Given the description of an element on the screen output the (x, y) to click on. 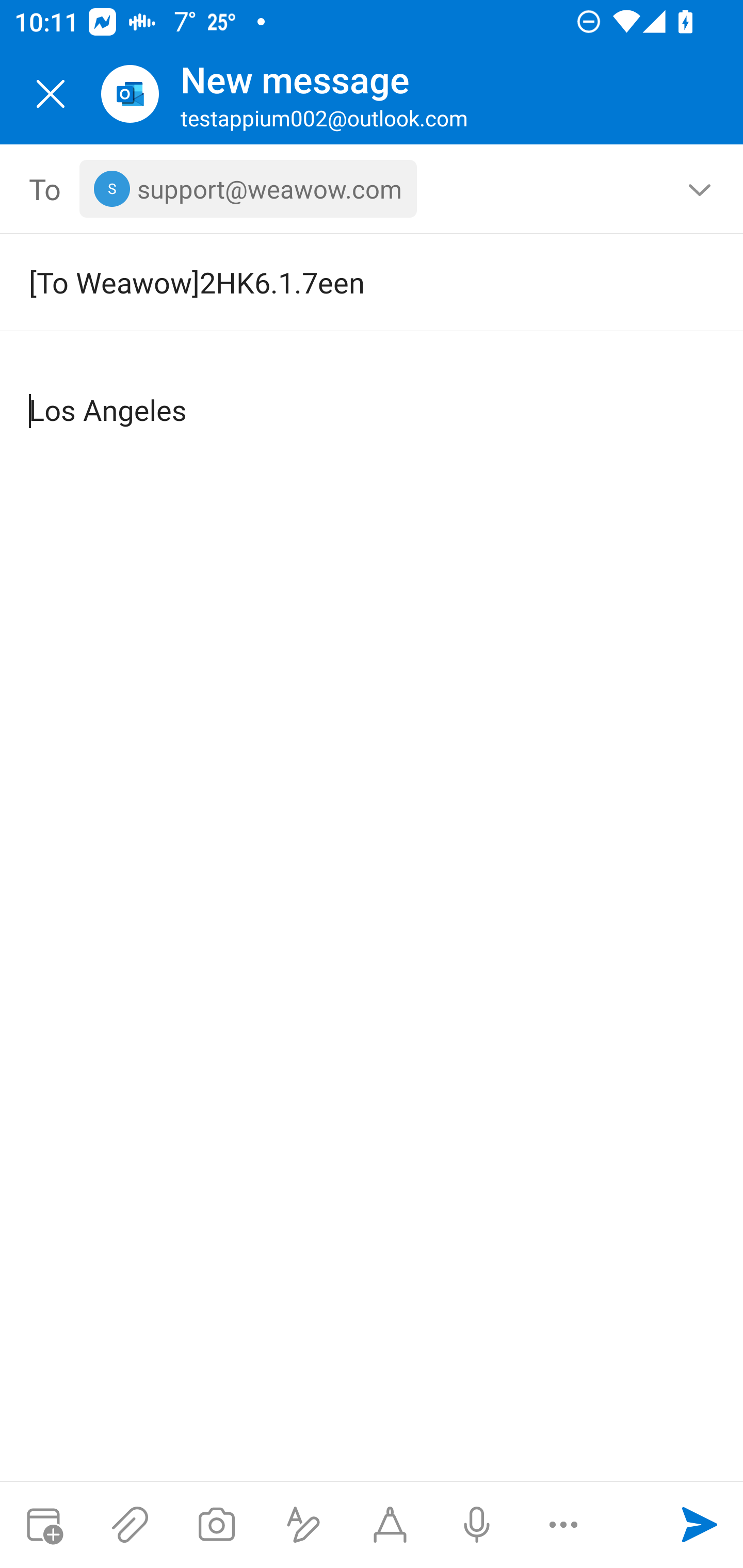
Close (50, 93)
[To Weawow]2HK6.1.7een (342, 281)

Los Angeles (372, 394)
Attach meeting (43, 1524)
Attach files (129, 1524)
Take a photo (216, 1524)
Show formatting options (303, 1524)
Start Ink compose (389, 1524)
Dictation (476, 1524)
More options (563, 1524)
Send (699, 1524)
